Given the description of an element on the screen output the (x, y) to click on. 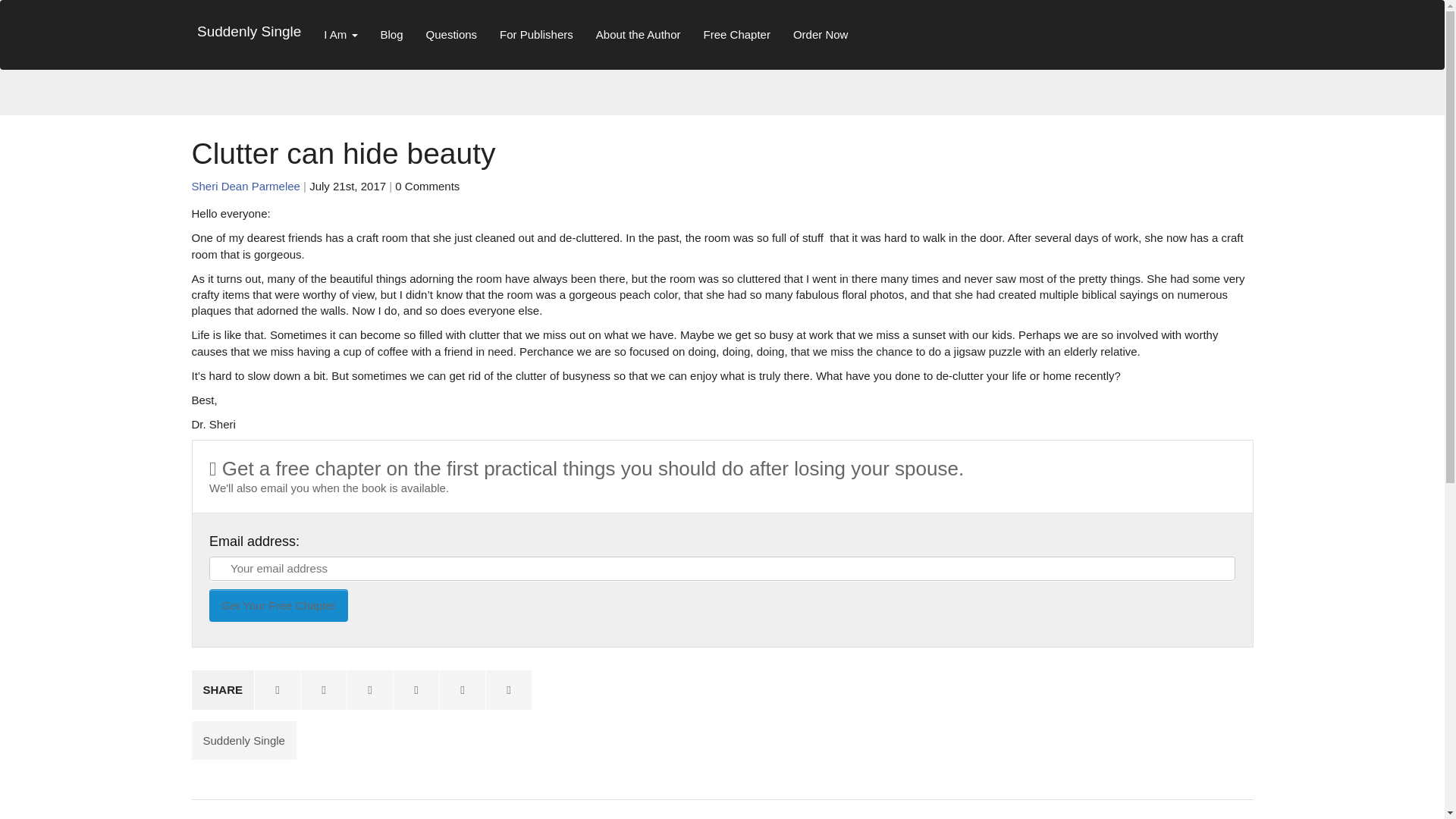
Free Chapter (737, 33)
About the Author (639, 33)
Suddenly Single (249, 31)
For Publishers (536, 33)
Sheri Dean Parmelee (244, 185)
I Am (340, 33)
Get Your Free Chapter (278, 604)
For Publishers (536, 33)
I Am (340, 33)
Blog (391, 33)
